Given the description of an element on the screen output the (x, y) to click on. 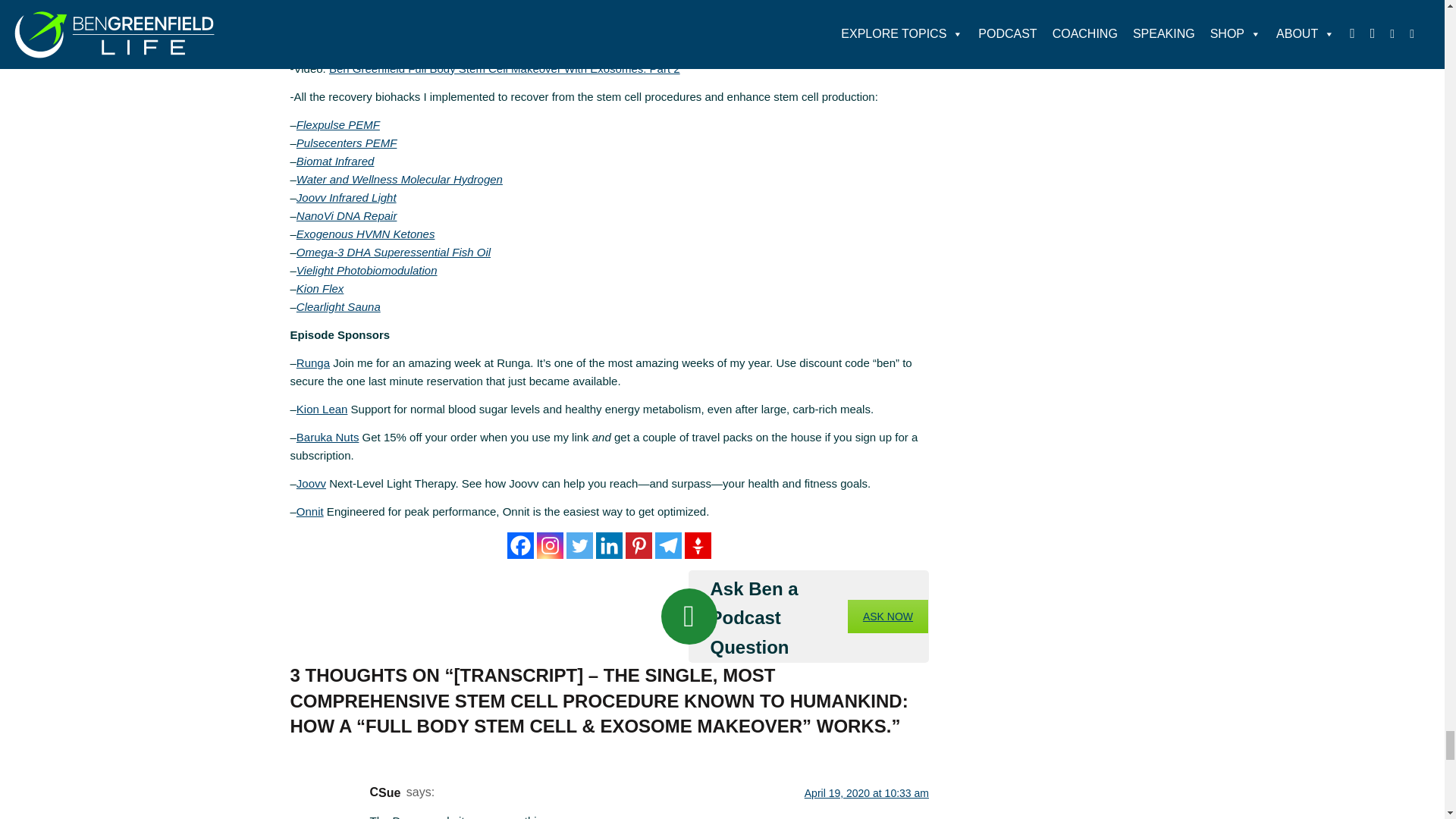
Gettr (697, 545)
Instagram (550, 545)
Facebook (520, 545)
Pinterest (639, 545)
Linkedin (609, 545)
Twitter (579, 545)
Telegram (668, 545)
